Given the description of an element on the screen output the (x, y) to click on. 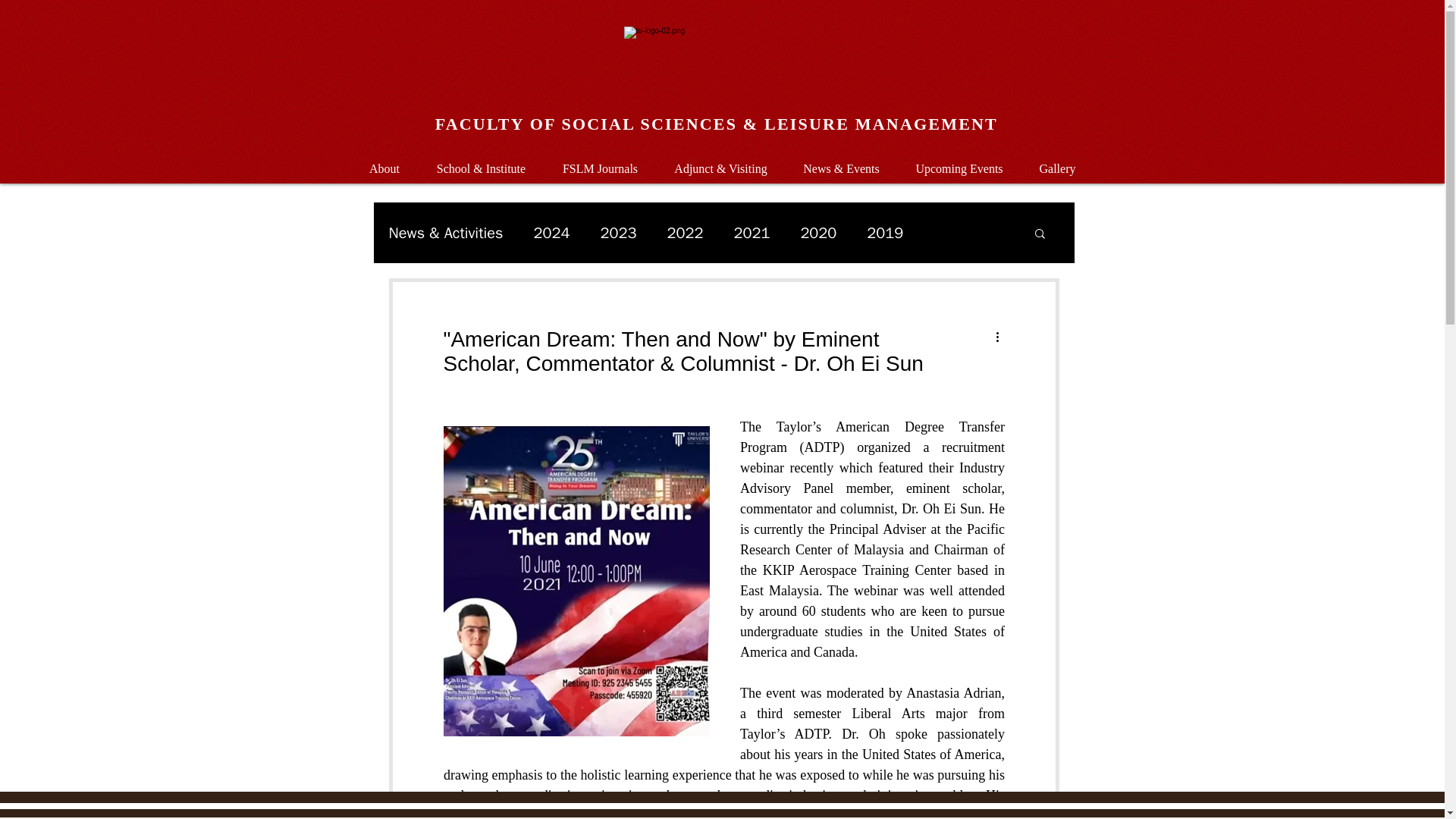
Gallery (1056, 161)
2024 (552, 232)
About (383, 161)
2023 (617, 232)
2021 (751, 232)
2020 (817, 232)
2022 (684, 232)
FSLM Journals (600, 161)
Upcoming Events (960, 161)
2019 (884, 232)
